Given the description of an element on the screen output the (x, y) to click on. 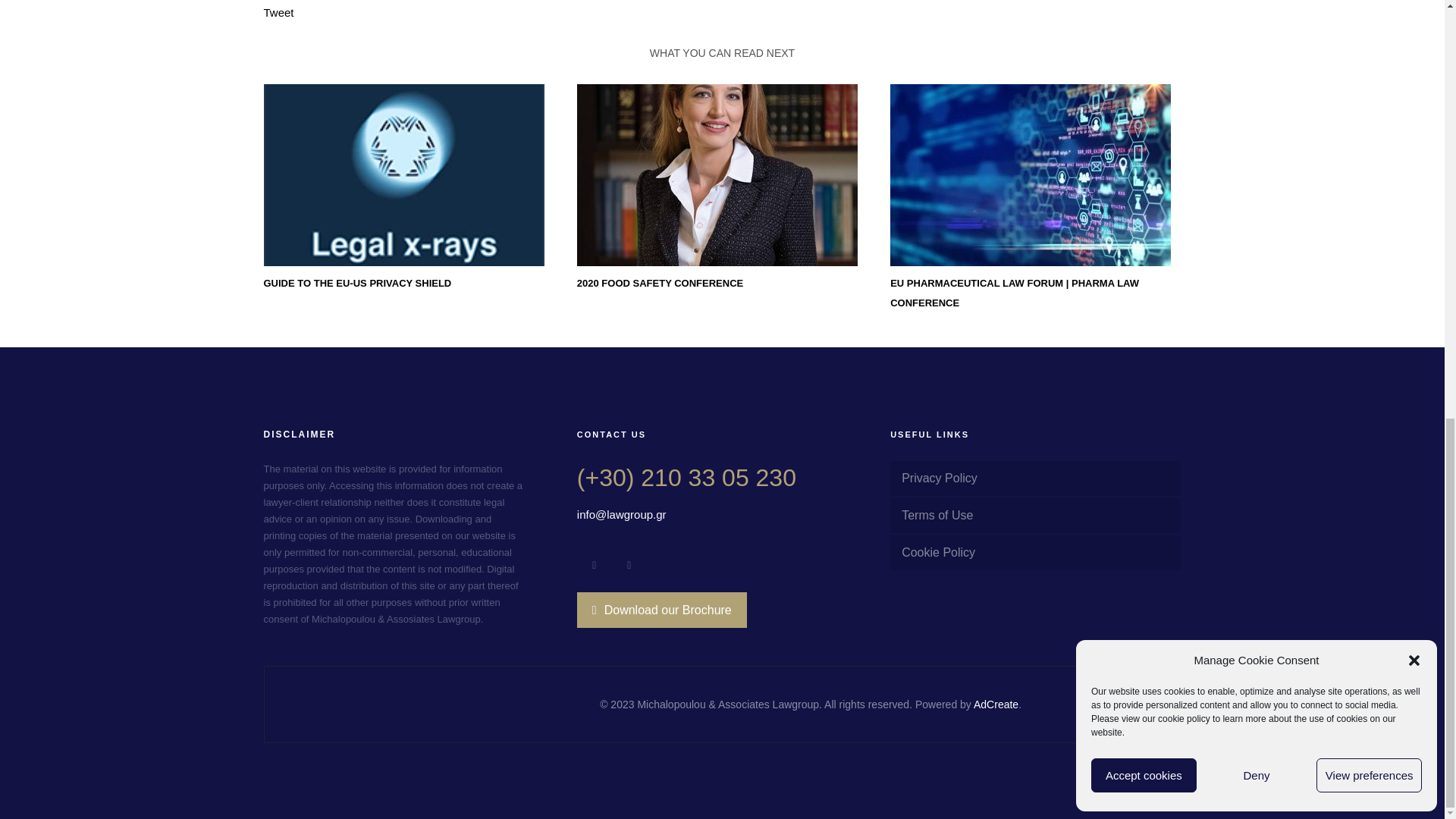
michalopoulou (716, 175)
Lxray-post (403, 175)
